Given the description of an element on the screen output the (x, y) to click on. 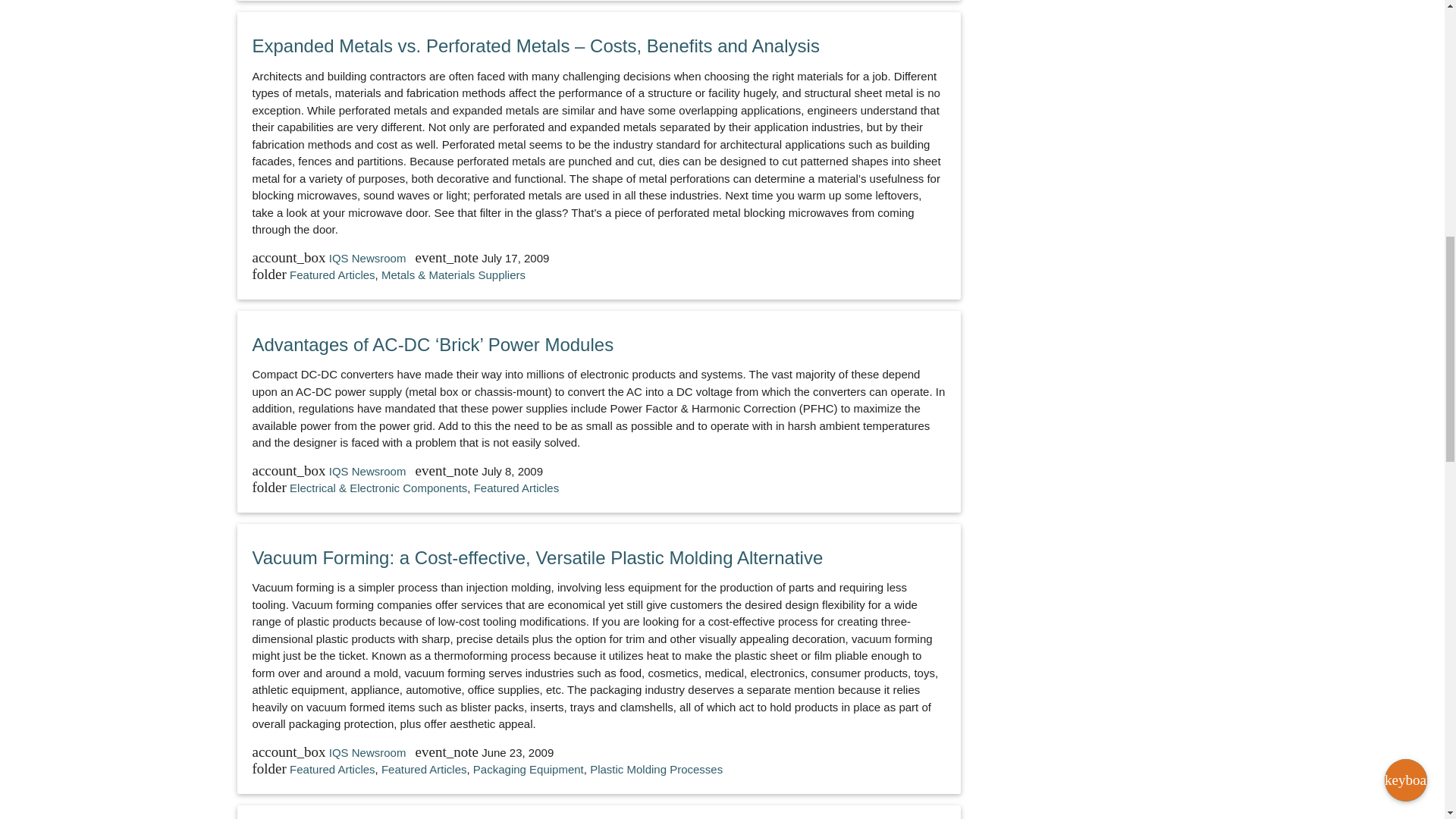
Featured Articles (332, 274)
IQS Newsroom (369, 752)
IQS Newsroom (369, 257)
IQS Newsroom (369, 471)
Featured Articles (424, 768)
Plastic Molding Processes (655, 768)
Featured Articles (516, 487)
Featured Articles (332, 768)
Packaging Equipment (528, 768)
